Given the description of an element on the screen output the (x, y) to click on. 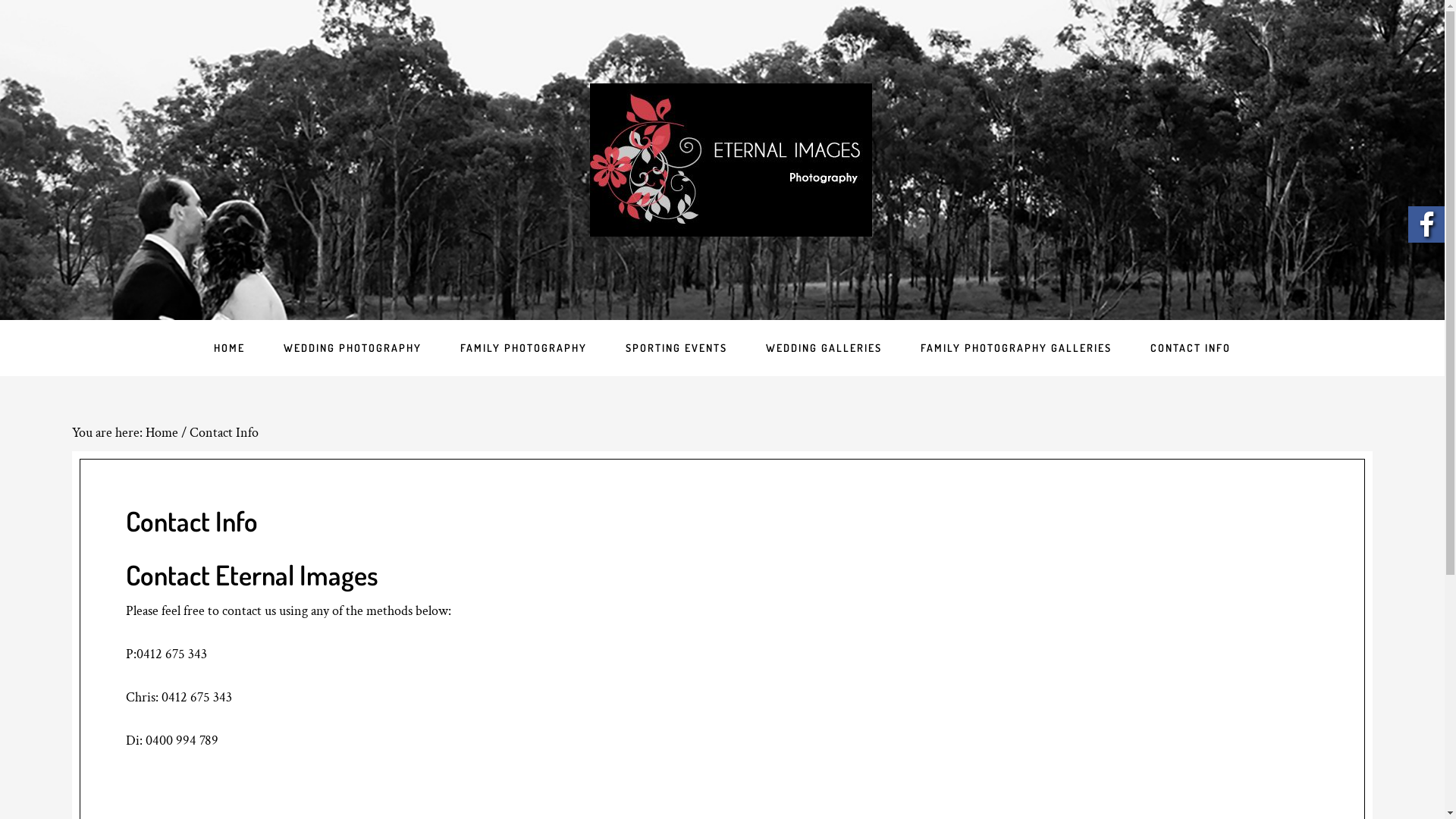
HOME Element type: text (229, 348)
SPORTING EVENTS Element type: text (676, 348)
Home Element type: text (161, 432)
ETERNAL IMAGES Element type: text (730, 159)
WEDDING PHOTOGRAPHY Element type: text (352, 348)
FAMILY PHOTOGRAPHY Element type: text (523, 348)
FAMILY PHOTOGRAPHY GALLERIES Element type: text (1015, 348)
WEDDING GALLERIES Element type: text (823, 348)
CONTACT INFO Element type: text (1190, 348)
